Given the description of an element on the screen output the (x, y) to click on. 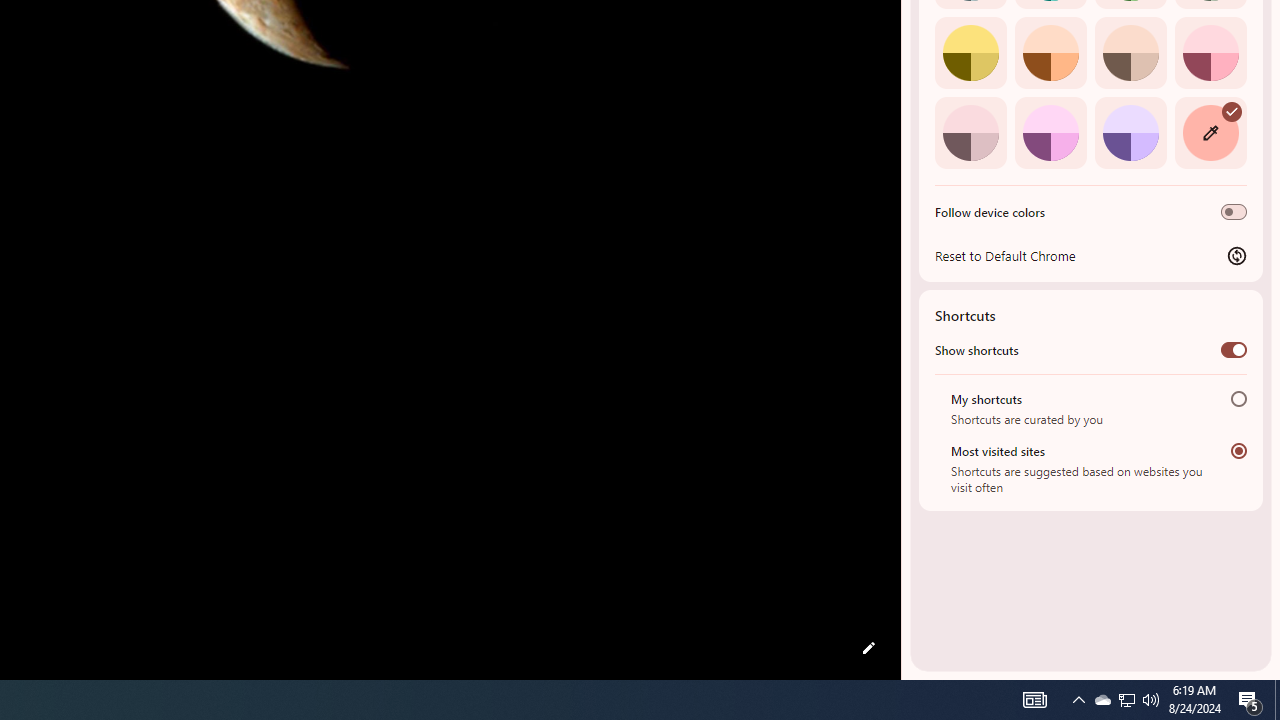
Most visited sites (1238, 450)
Custom color (1210, 132)
Reset to Default Chrome (1091, 255)
Apricot (1130, 52)
Fuchsia (1050, 132)
Rose (1210, 52)
Customize this page (868, 647)
Violet (1130, 132)
AutomationID: svg (1231, 110)
Citron (970, 52)
Show shortcuts (1233, 349)
Follow device colors (1233, 211)
My shortcuts (1238, 398)
Side Panel Resize Handle (905, 39)
